Given the description of an element on the screen output the (x, y) to click on. 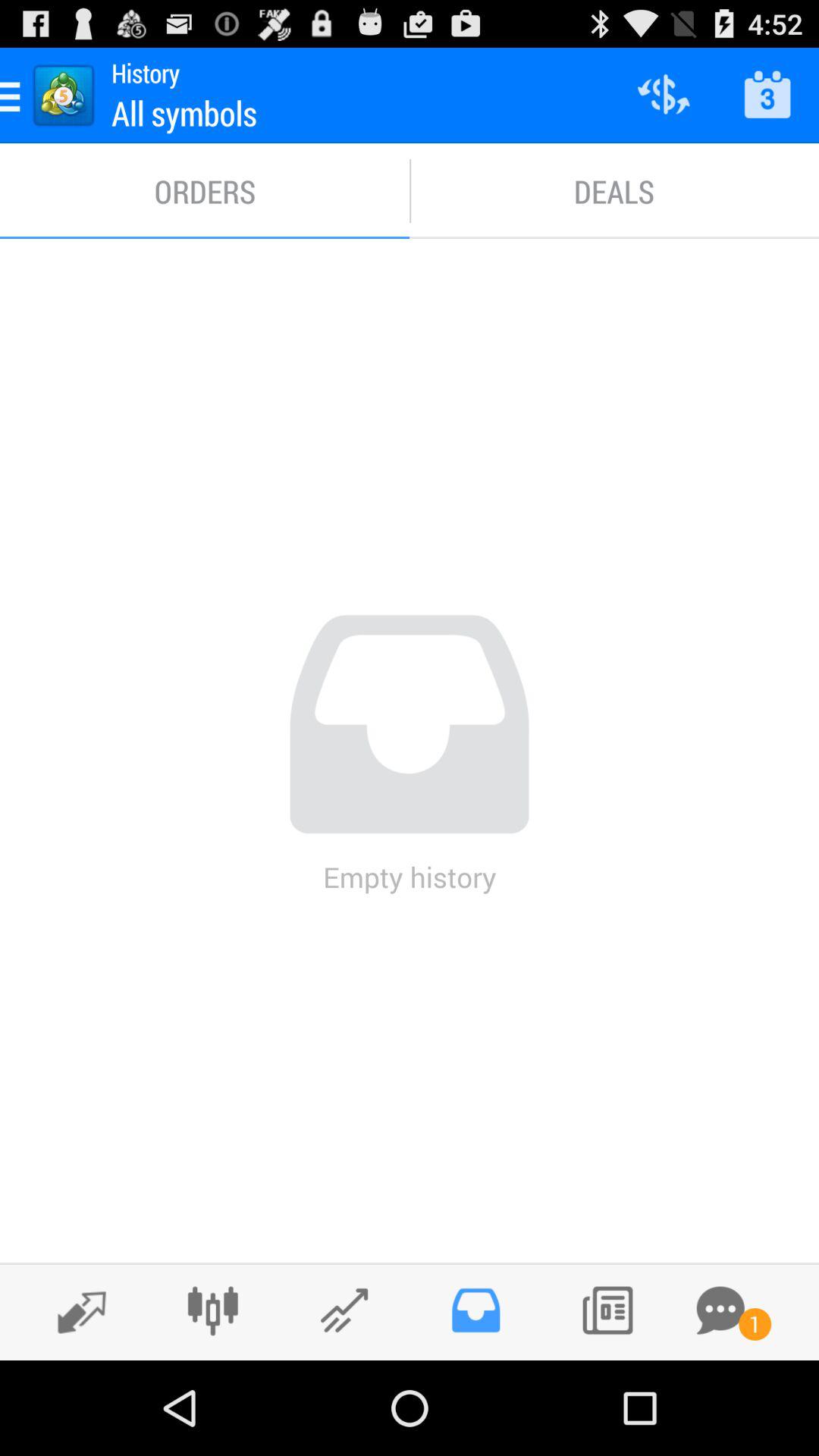
swipe to orders item (204, 190)
